Given the description of an element on the screen output the (x, y) to click on. 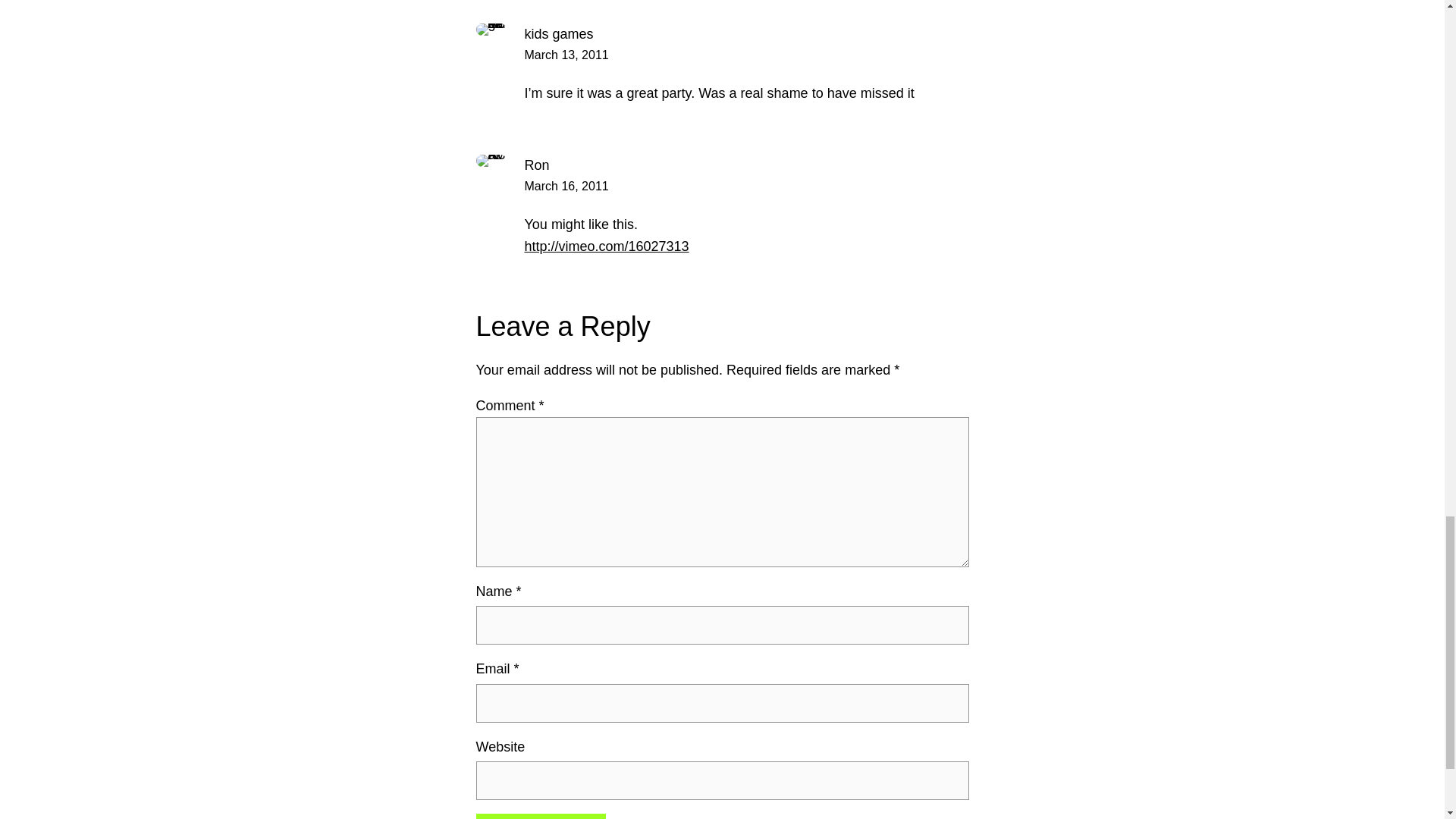
March 13, 2011 (566, 54)
Post Comment (540, 816)
Post Comment (540, 816)
Ron (537, 165)
kids games (559, 33)
March 16, 2011 (566, 185)
